Given the description of an element on the screen output the (x, y) to click on. 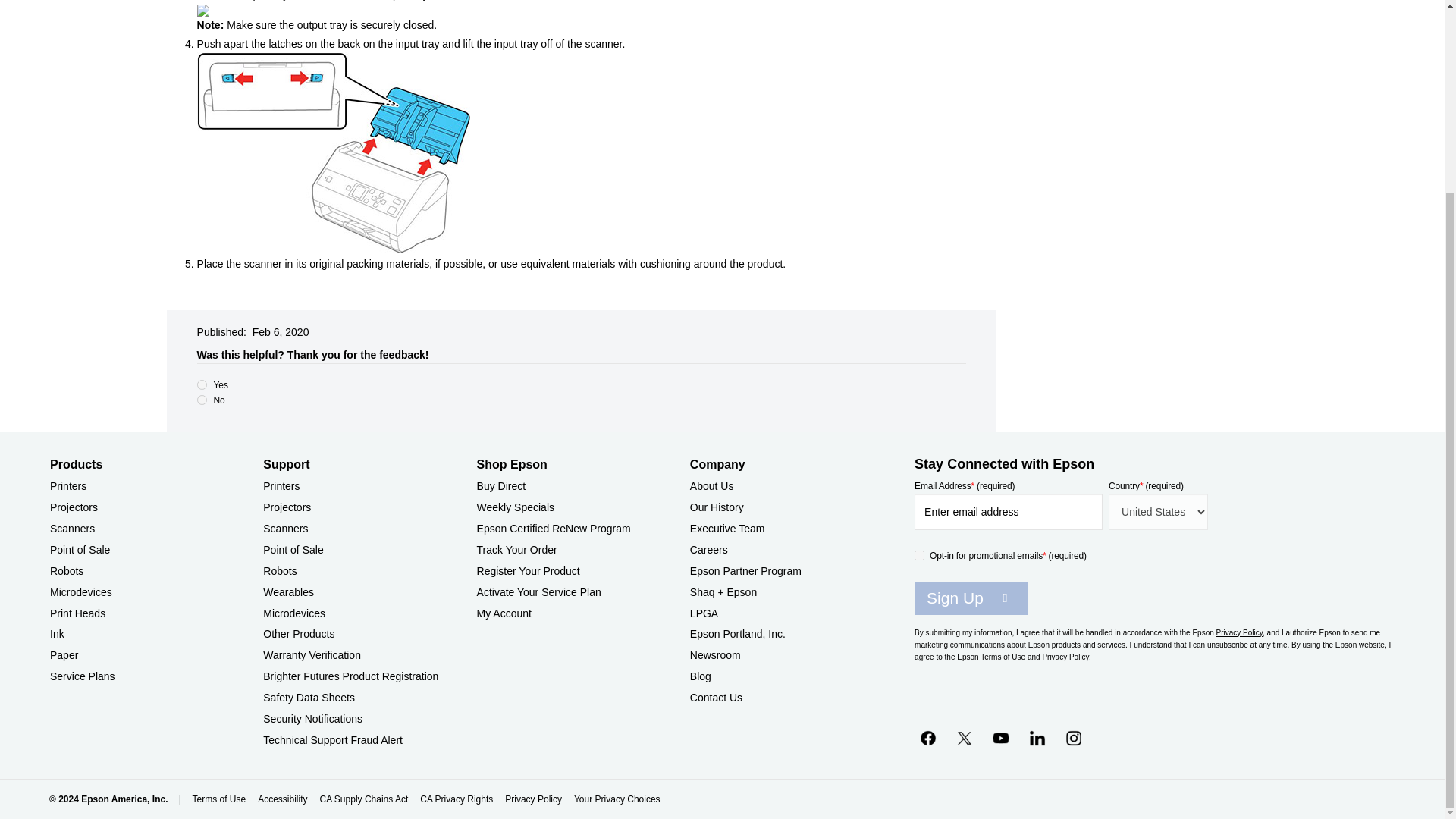
on (919, 555)
yes (201, 384)
no (201, 399)
